Given the description of an element on the screen output the (x, y) to click on. 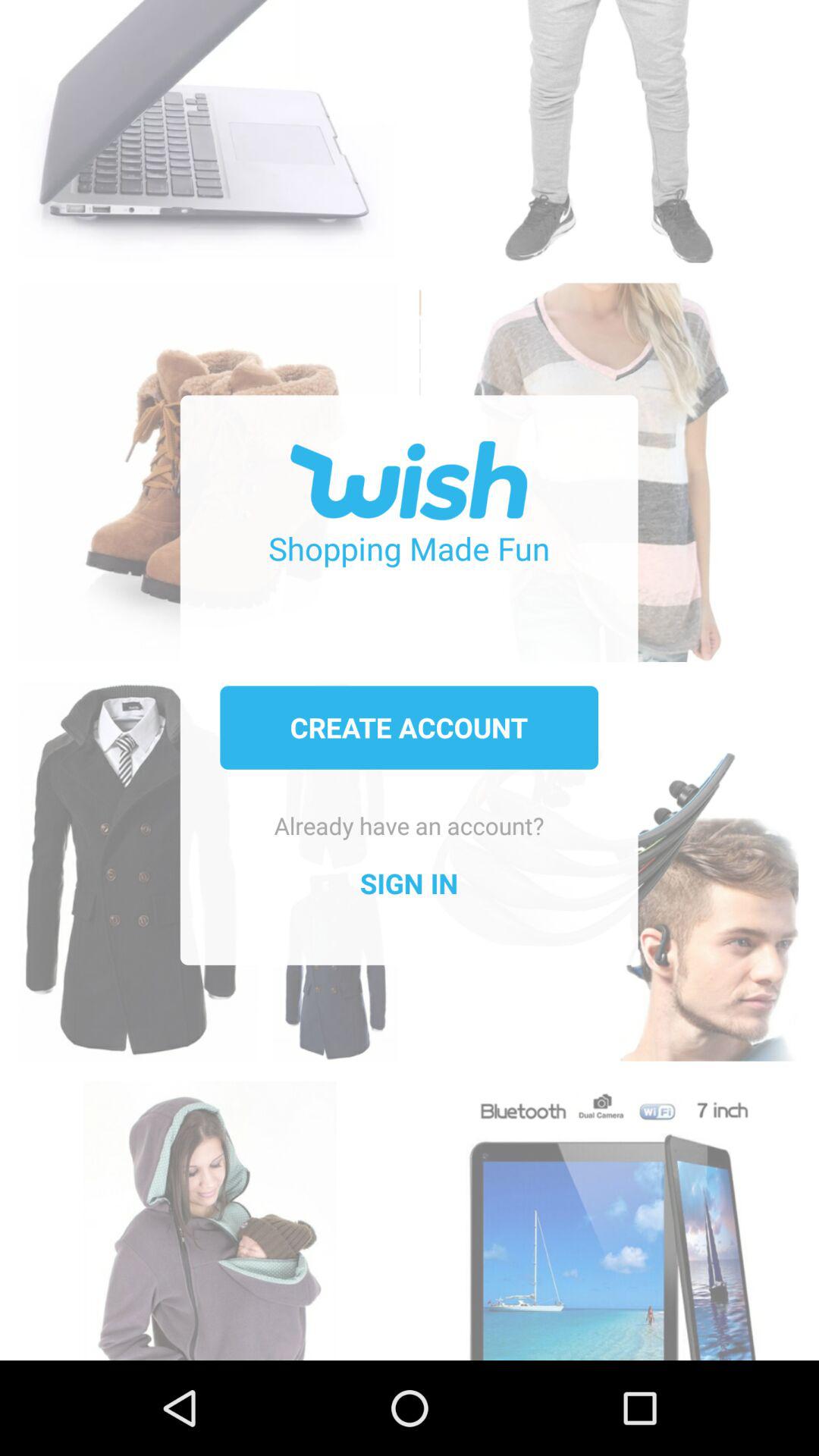
select right corner phone image from bottom (608, 1212)
